Given the description of an element on the screen output the (x, y) to click on. 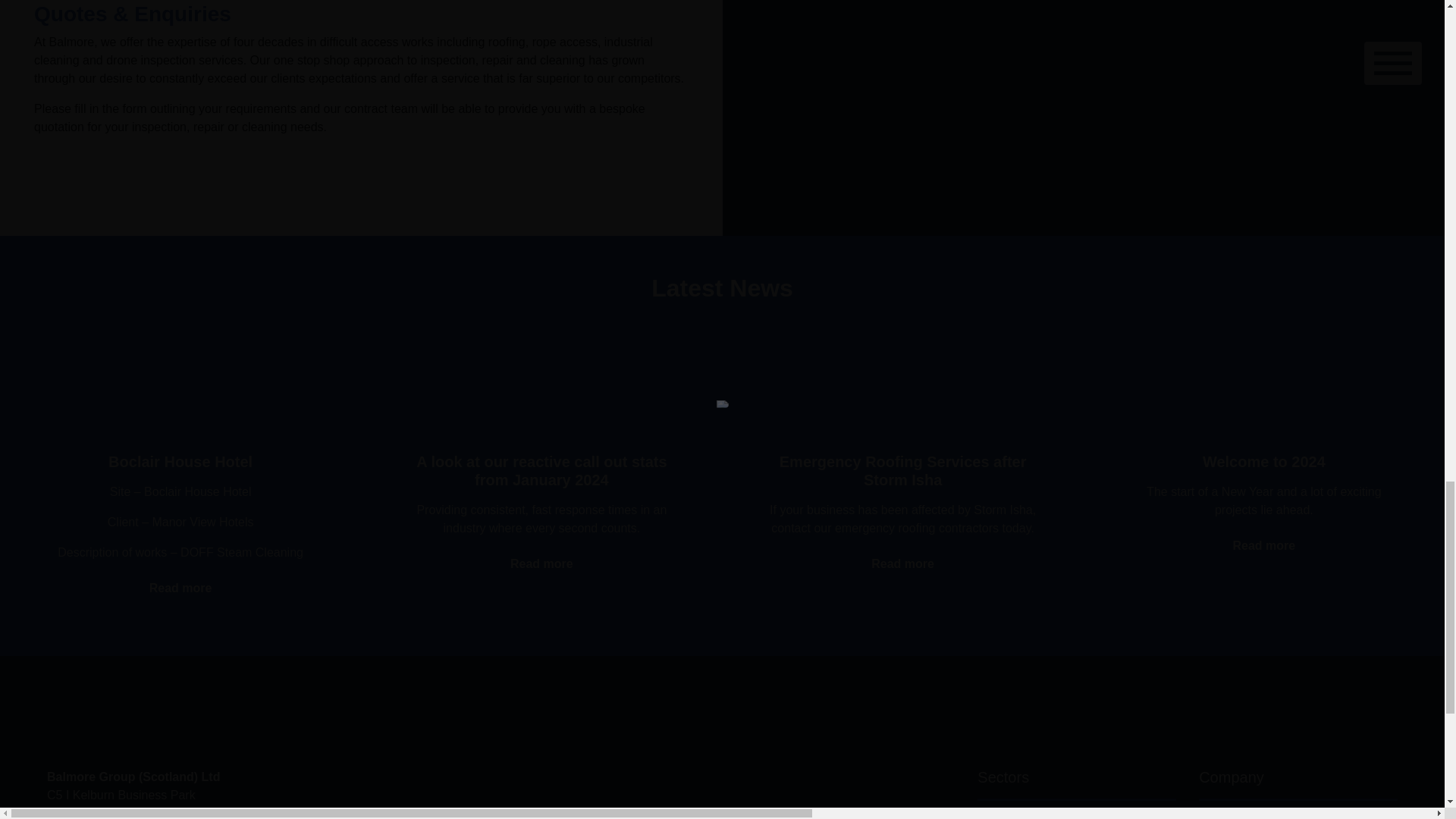
Construction (1010, 816)
